Given the description of an element on the screen output the (x, y) to click on. 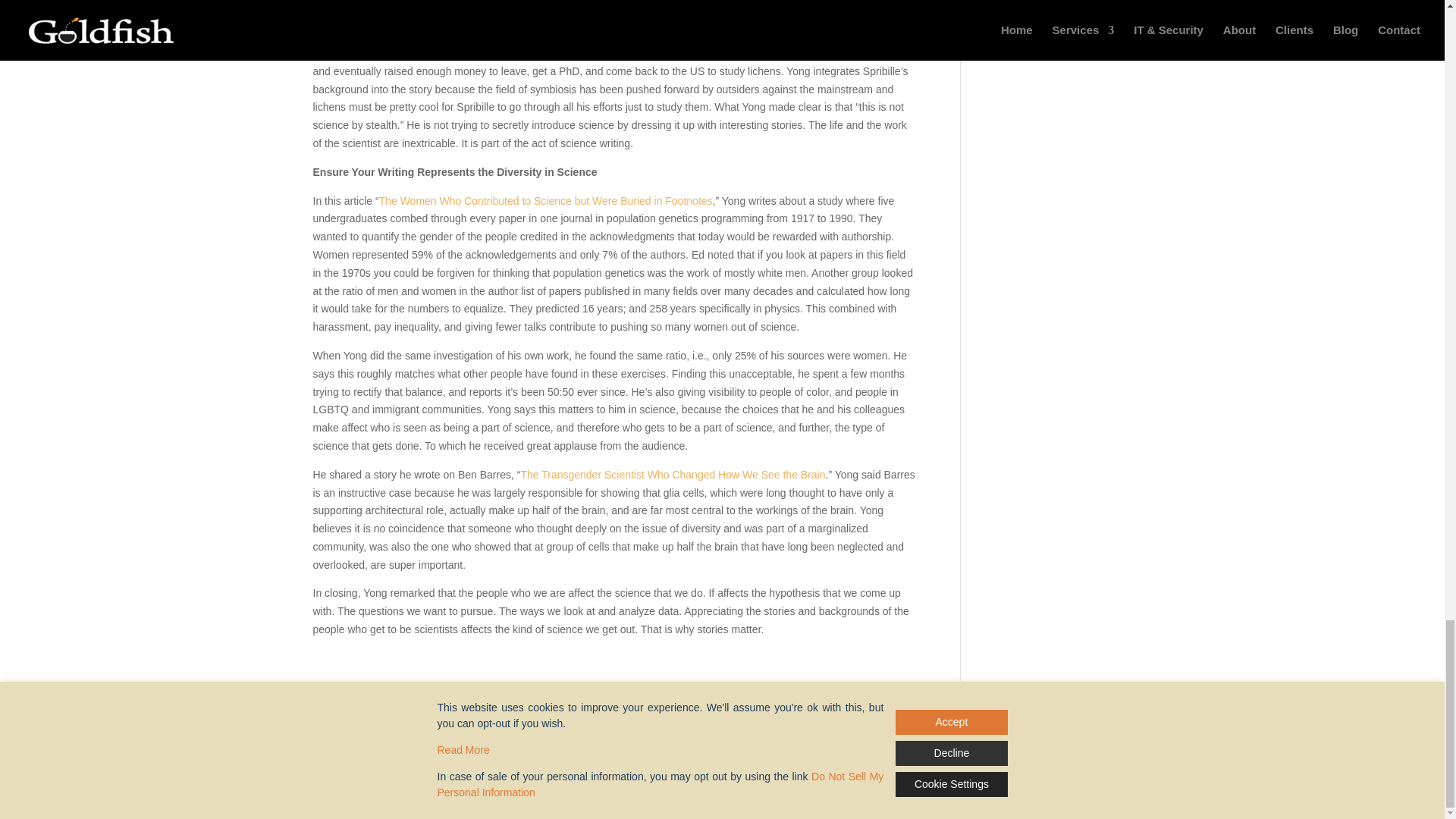
The Transgender Scientist Who Changed How We See the Brain (672, 474)
